Given the description of an element on the screen output the (x, y) to click on. 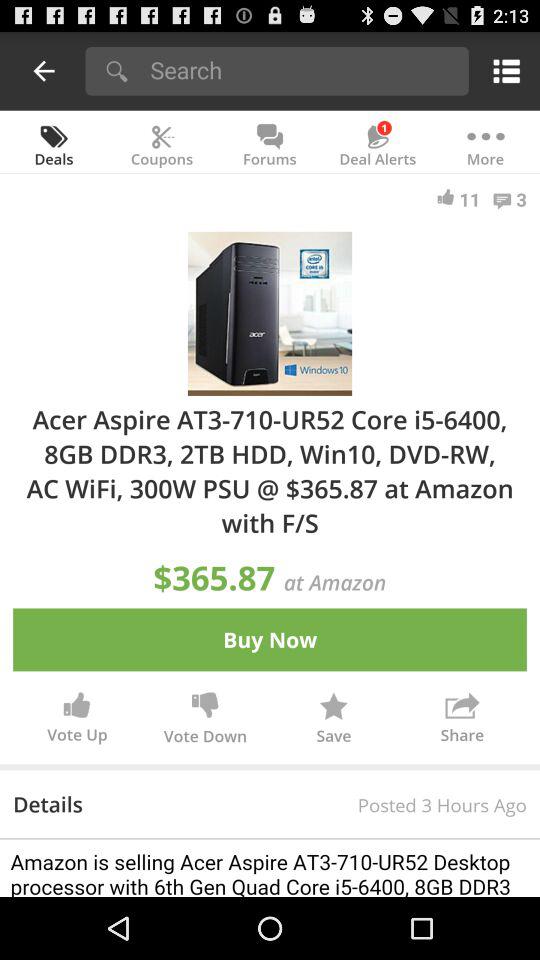
active search bar (302, 69)
